Given the description of an element on the screen output the (x, y) to click on. 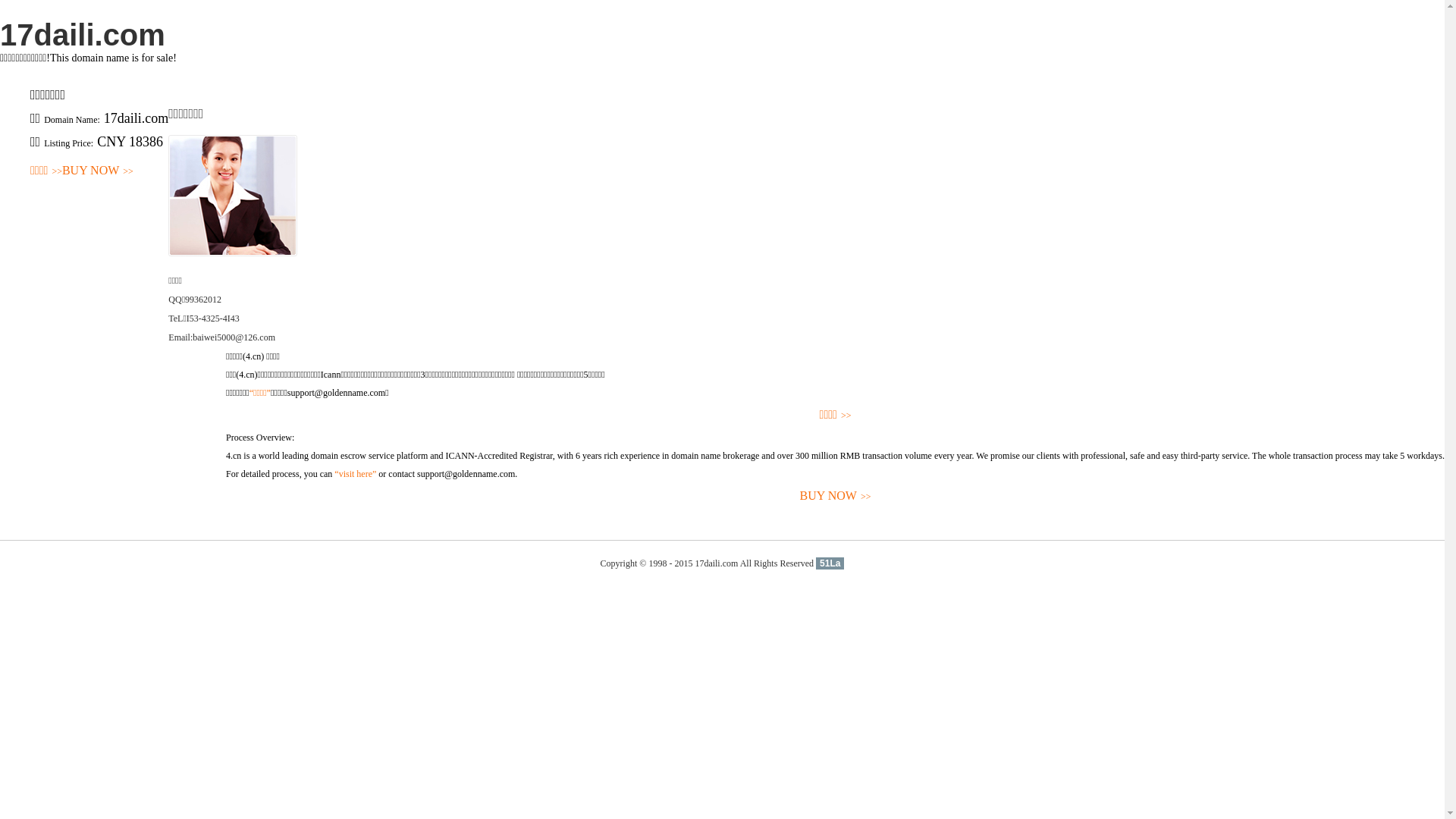
BUY NOW>> Element type: text (834, 496)
51La Element type: text (829, 563)
BUY NOW>> Element type: text (97, 170)
